Given the description of an element on the screen output the (x, y) to click on. 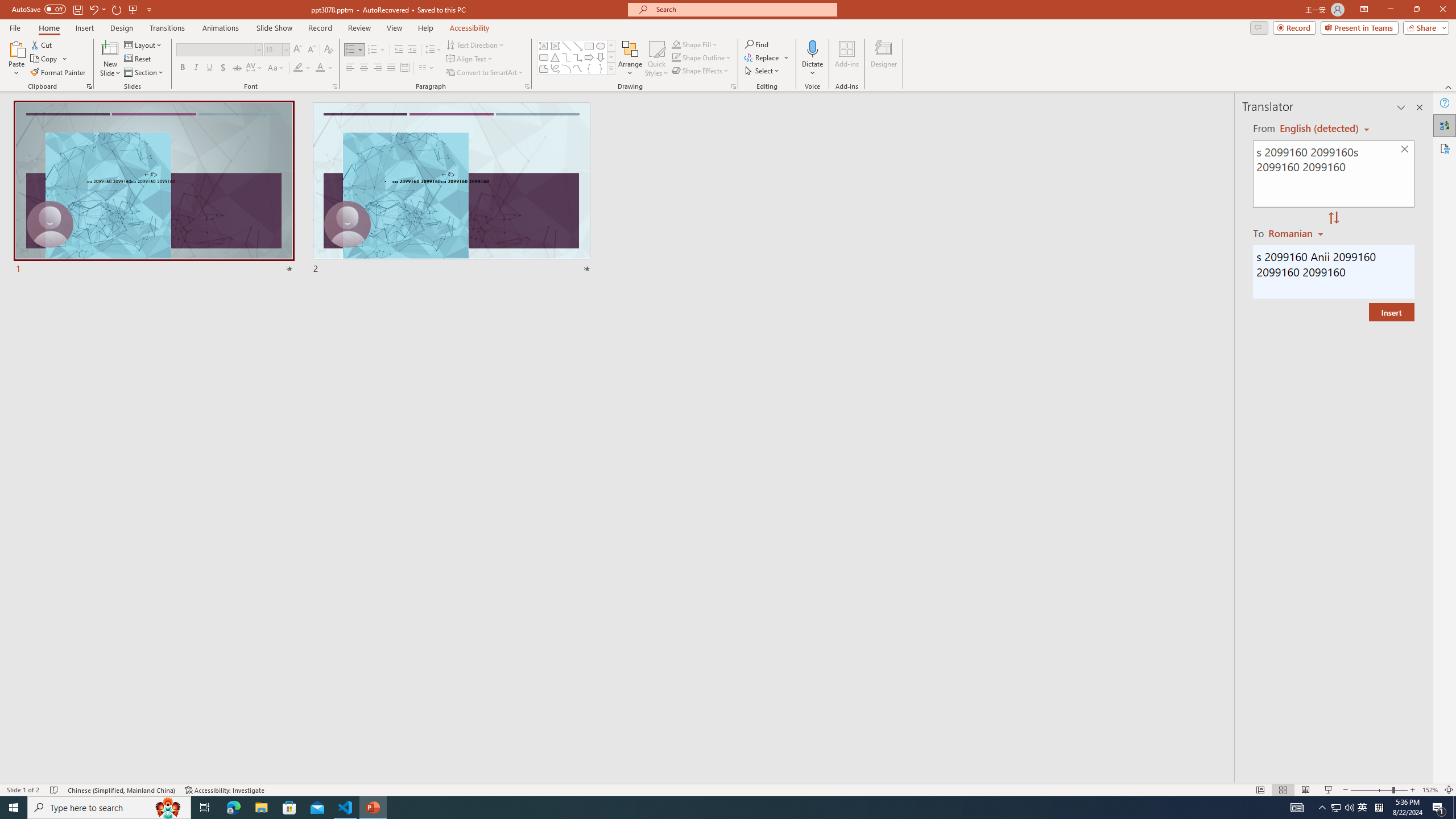
Layout (143, 44)
